Given the description of an element on the screen output the (x, y) to click on. 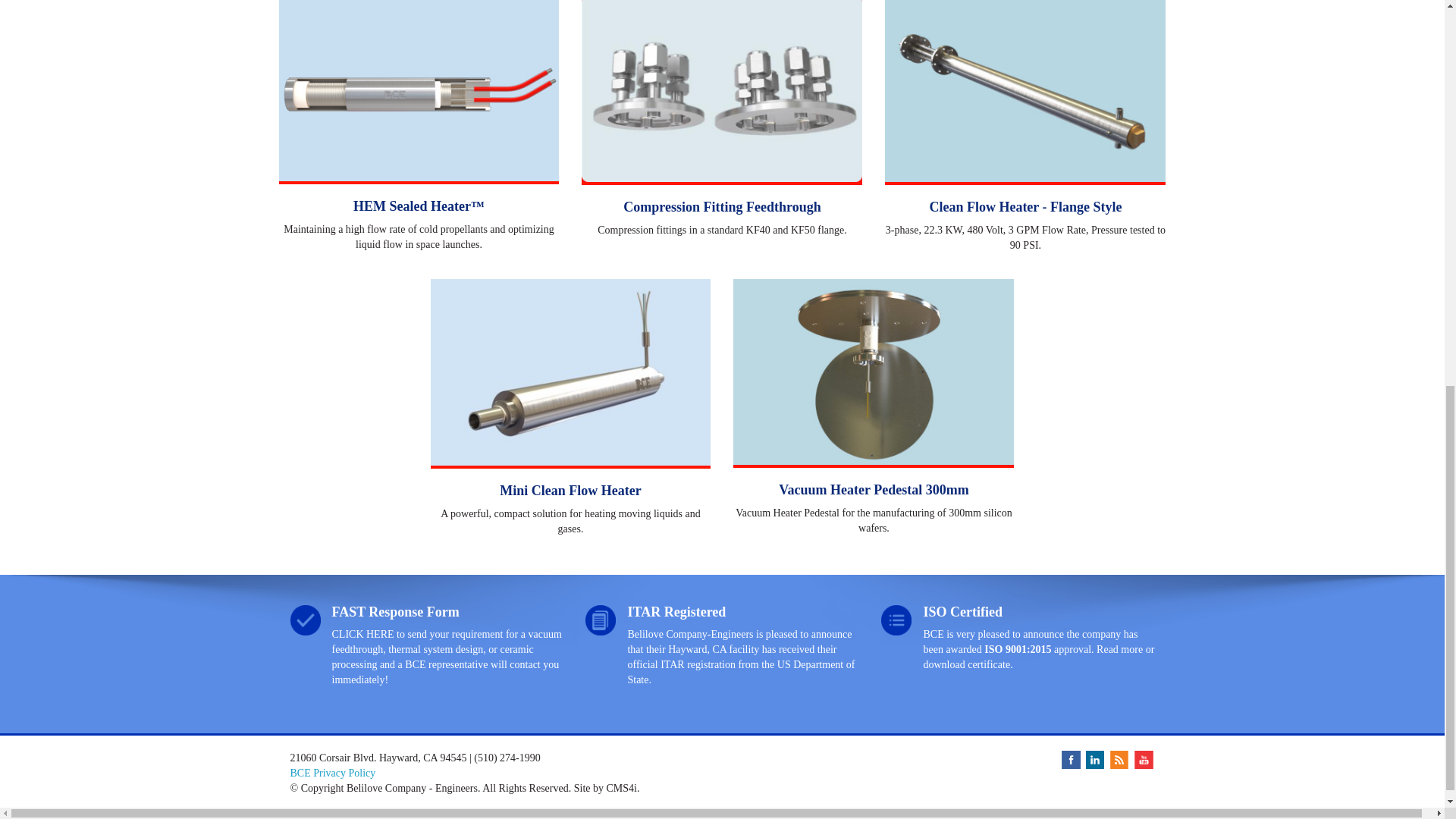
Mini Clean Flow Heater (569, 490)
Read more or download certificate (1038, 656)
BCE Privacy Policy (332, 772)
Compression Fitting Feedthrough (722, 206)
Clean Flow Heater - Flange Style (1024, 206)
CLICK HERE (362, 633)
Vacuum Heater Pedestal 300mm (873, 489)
official ITAR registration (681, 664)
Blog (1119, 758)
